Given the description of an element on the screen output the (x, y) to click on. 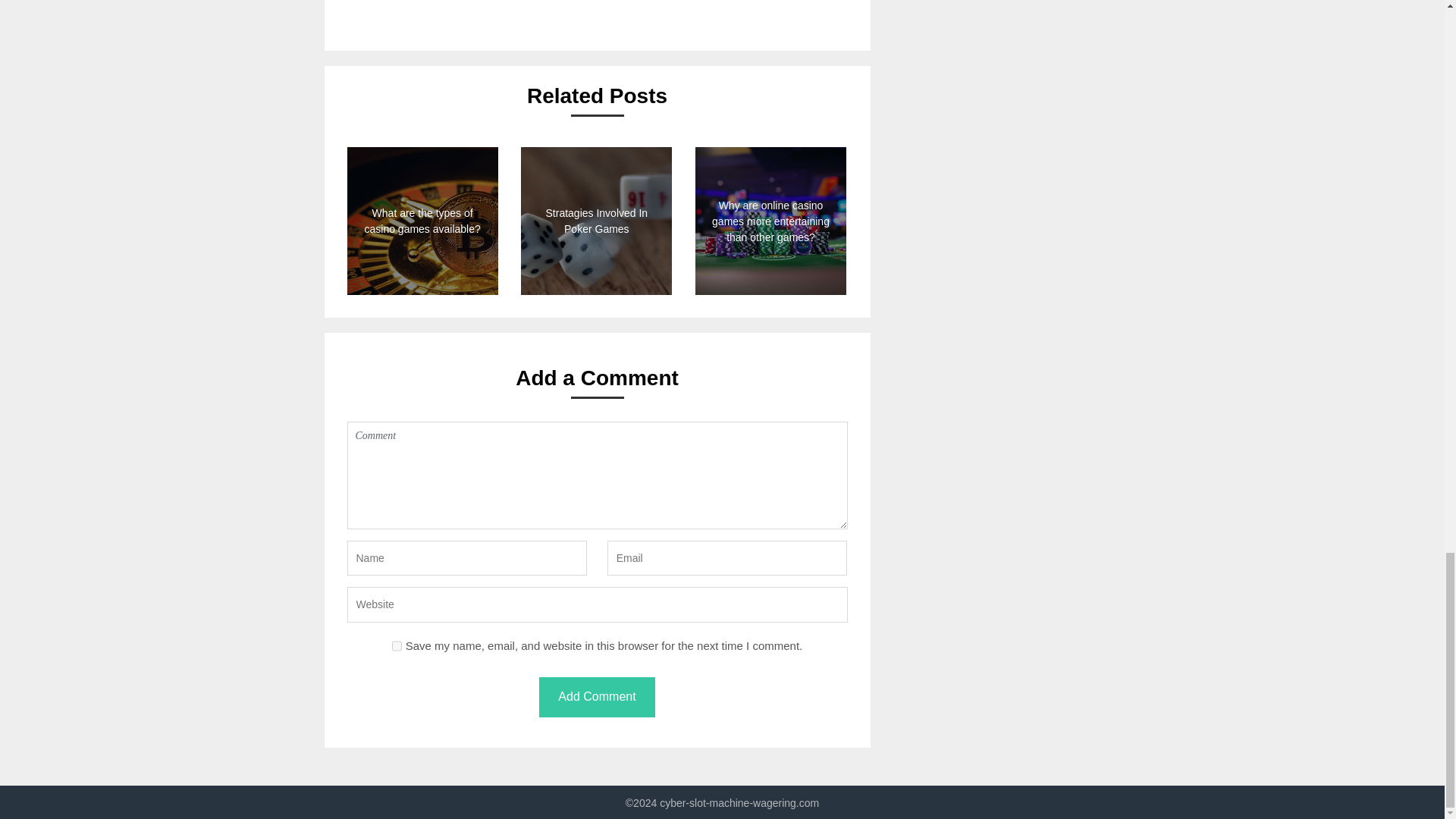
Add Comment (595, 697)
Add Comment (595, 697)
